Given the description of an element on the screen output the (x, y) to click on. 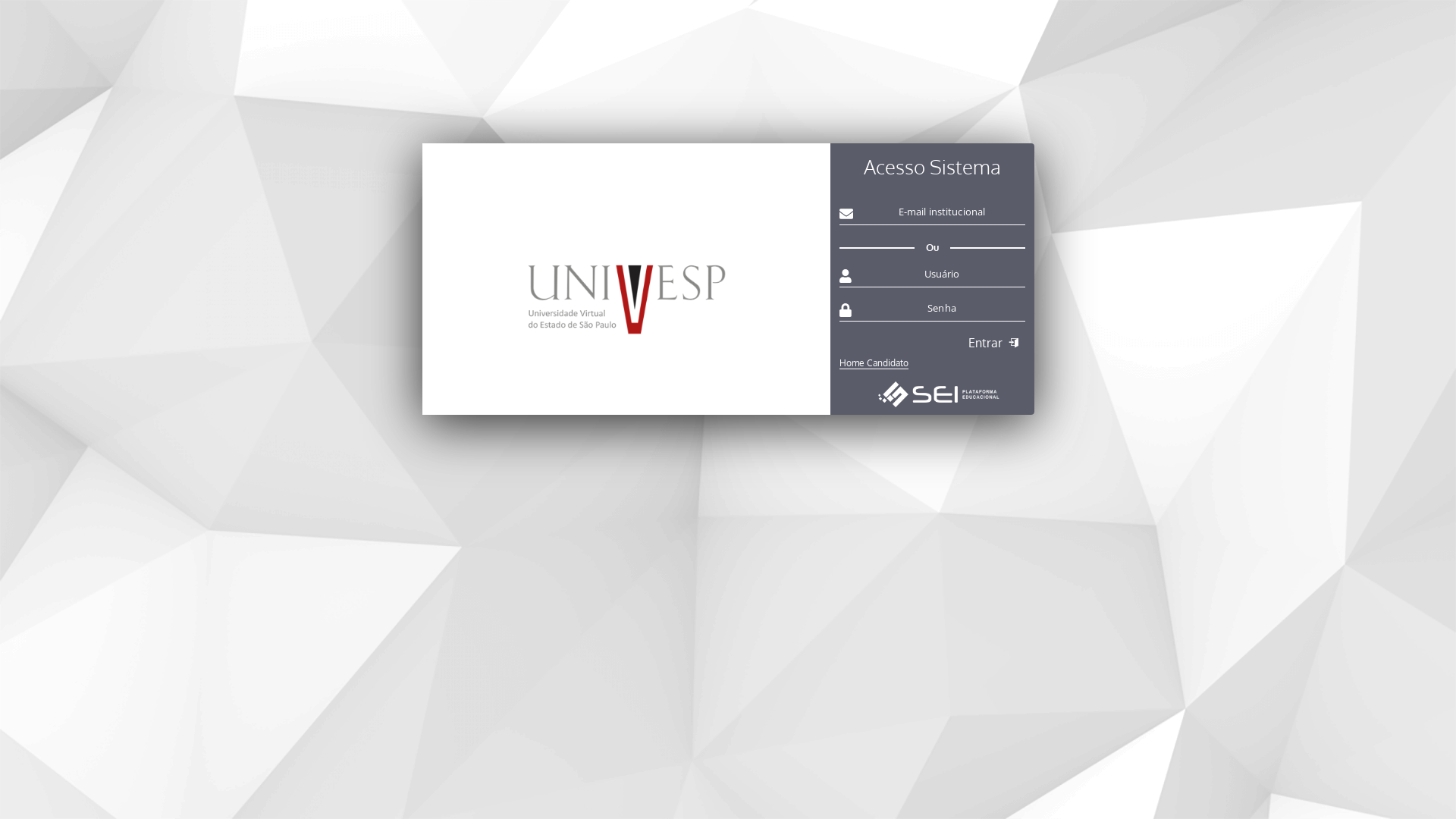
Home Candidato Element type: text (931, 359)
Entrar Element type: text (996, 343)
